Given the description of an element on the screen output the (x, y) to click on. 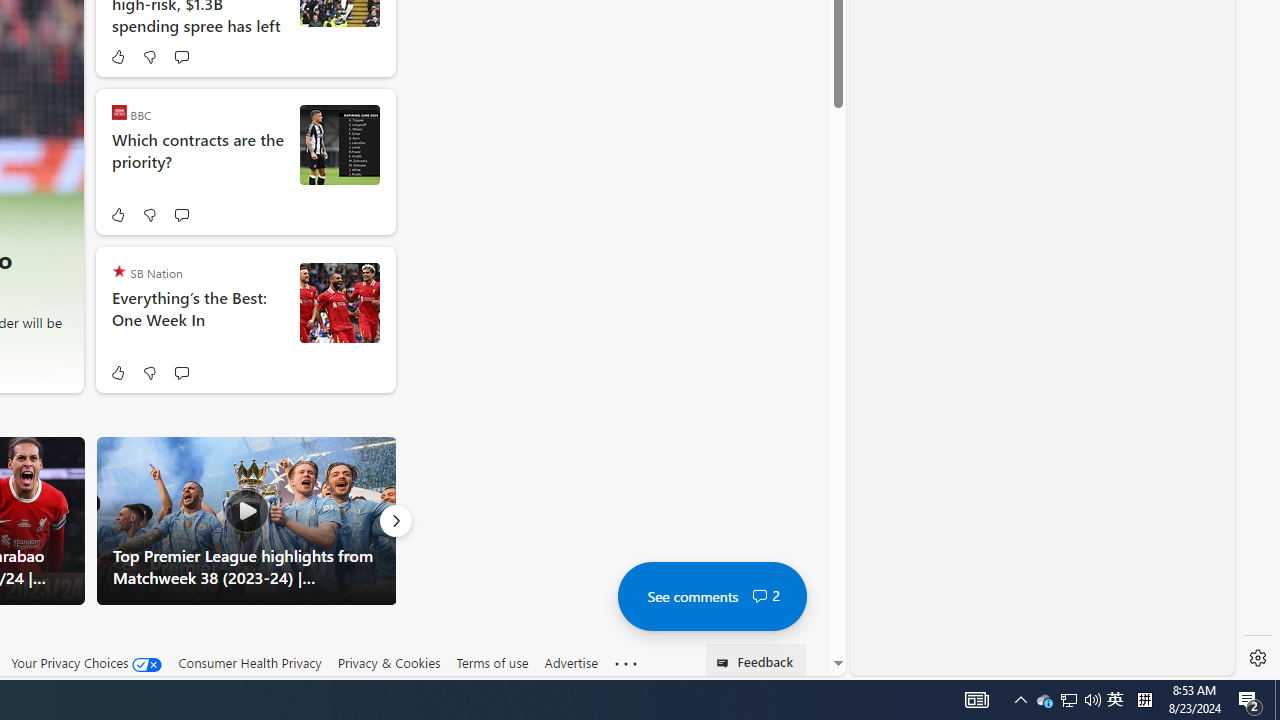
Next (395, 520)
BBC (118, 112)
Your Privacy Choices (86, 662)
Which contracts are the priority? (339, 145)
Which contracts are the priority? (197, 161)
Your Privacy Choices (86, 663)
next (55, 161)
